Given the description of an element on the screen output the (x, y) to click on. 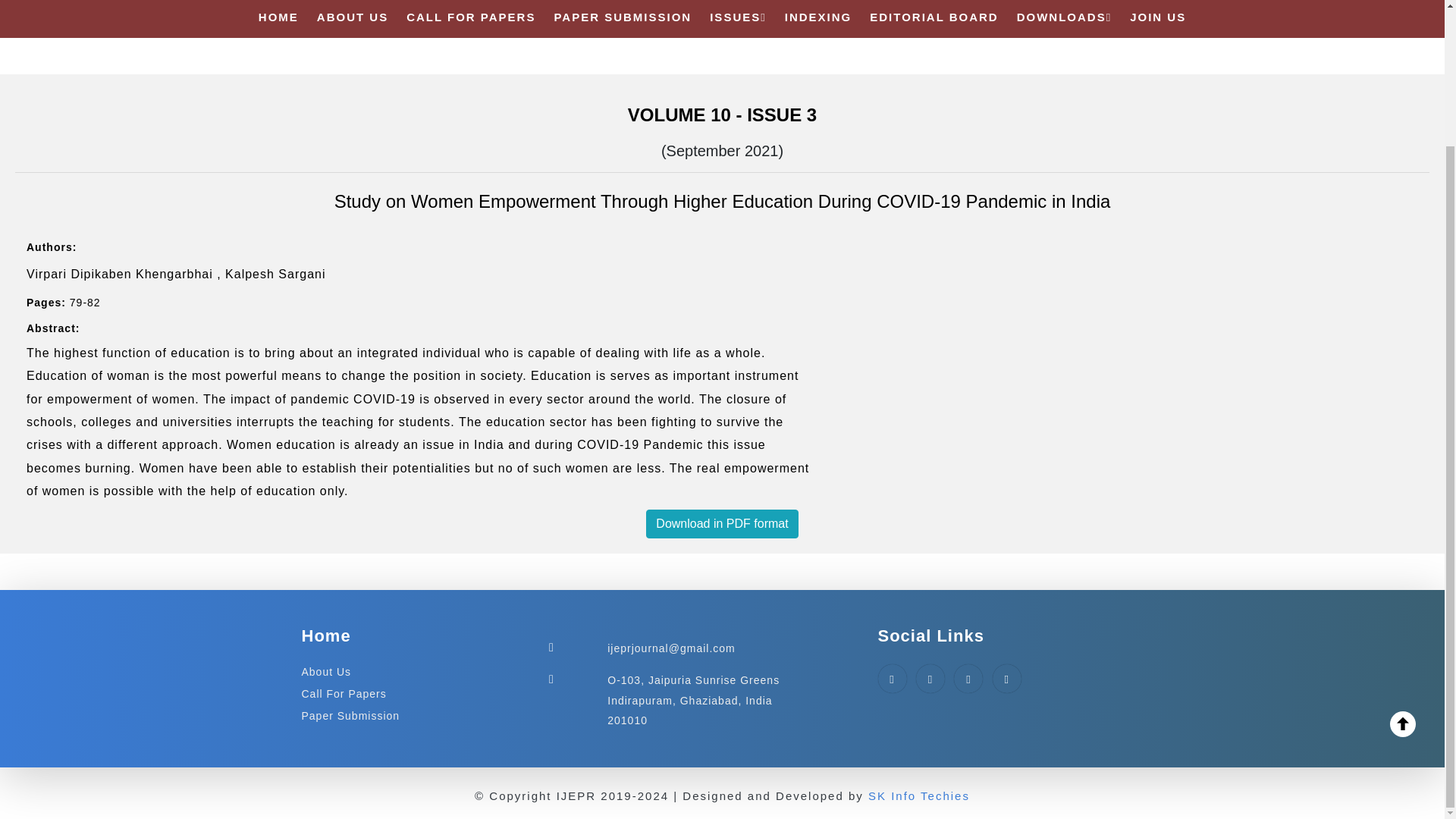
CALL FOR PAPERS (470, 16)
Paper Submission (350, 715)
HOME (278, 16)
ABOUT US (352, 16)
About Us (326, 671)
ISSUES (738, 16)
PAPER SUBMISSION (622, 16)
Call For Papers (344, 693)
